Given the description of an element on the screen output the (x, y) to click on. 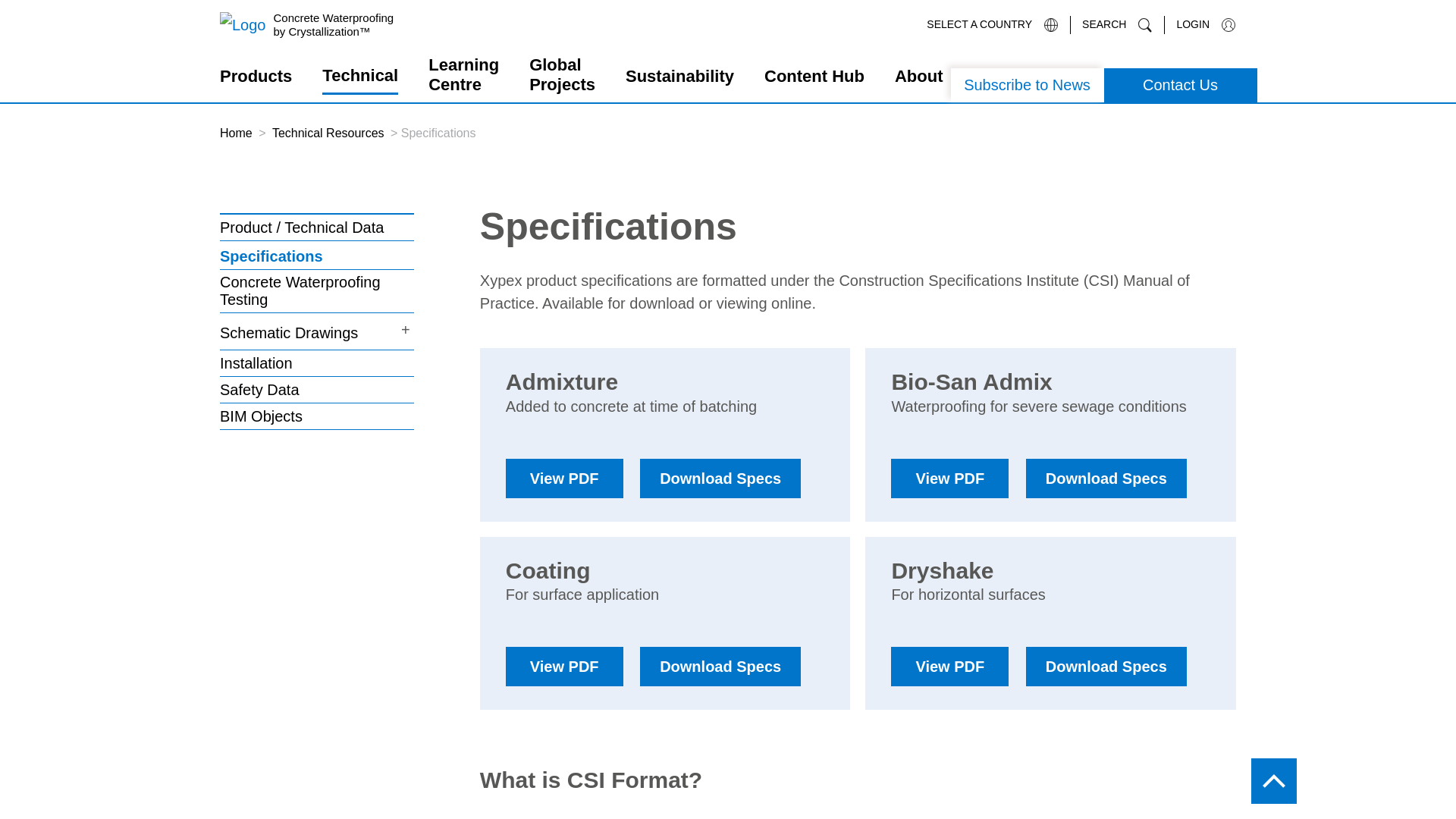
Technical (359, 80)
SEARCH (1111, 24)
SELECT A COUNTRY (992, 24)
Products (255, 79)
LOGIN (1199, 24)
